Given the description of an element on the screen output the (x, y) to click on. 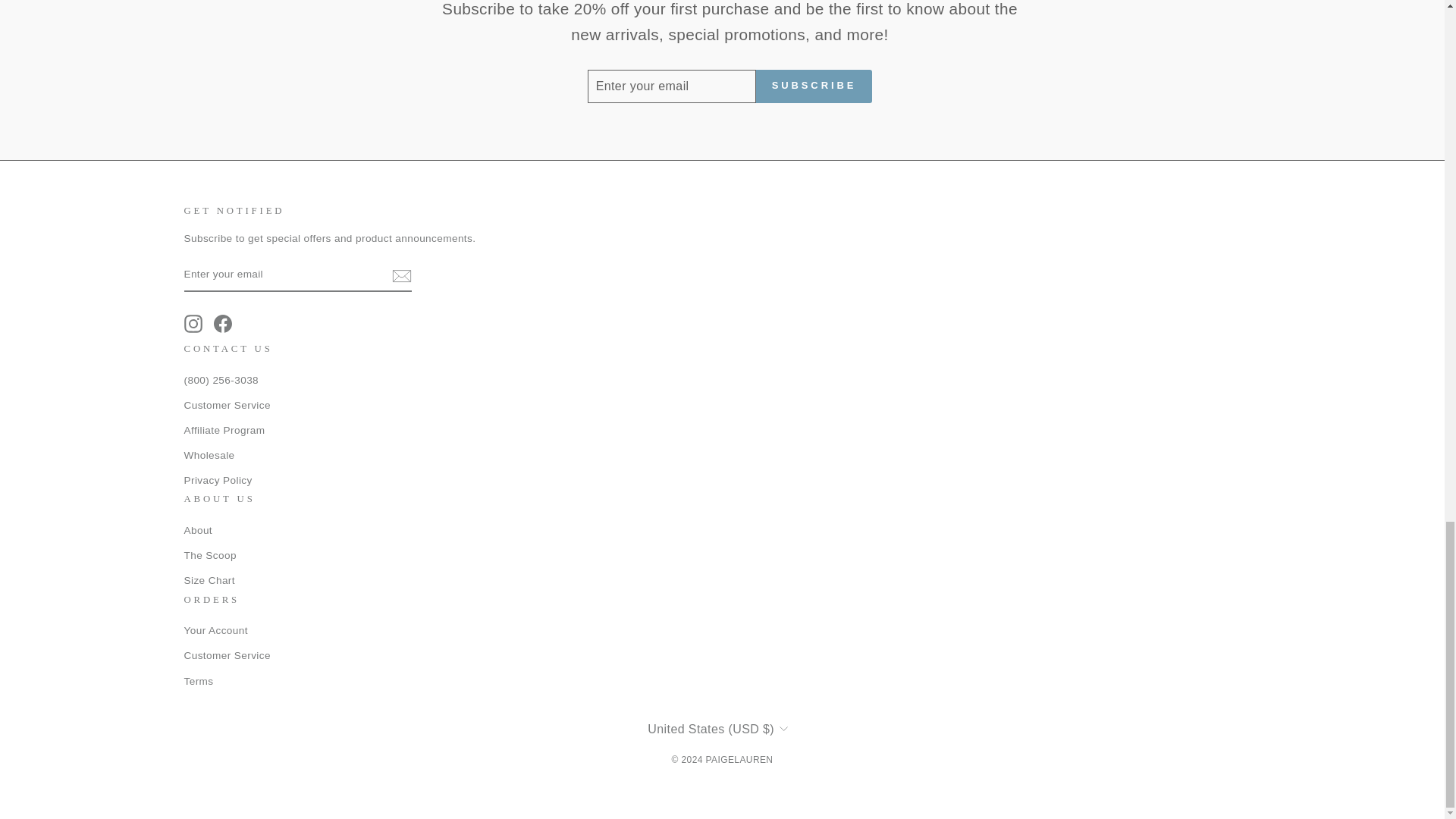
PAIGELAUREN on Facebook (222, 323)
instagram (192, 323)
PAIGELAUREN on Instagram (192, 323)
icon-email (400, 275)
